Given the description of an element on the screen output the (x, y) to click on. 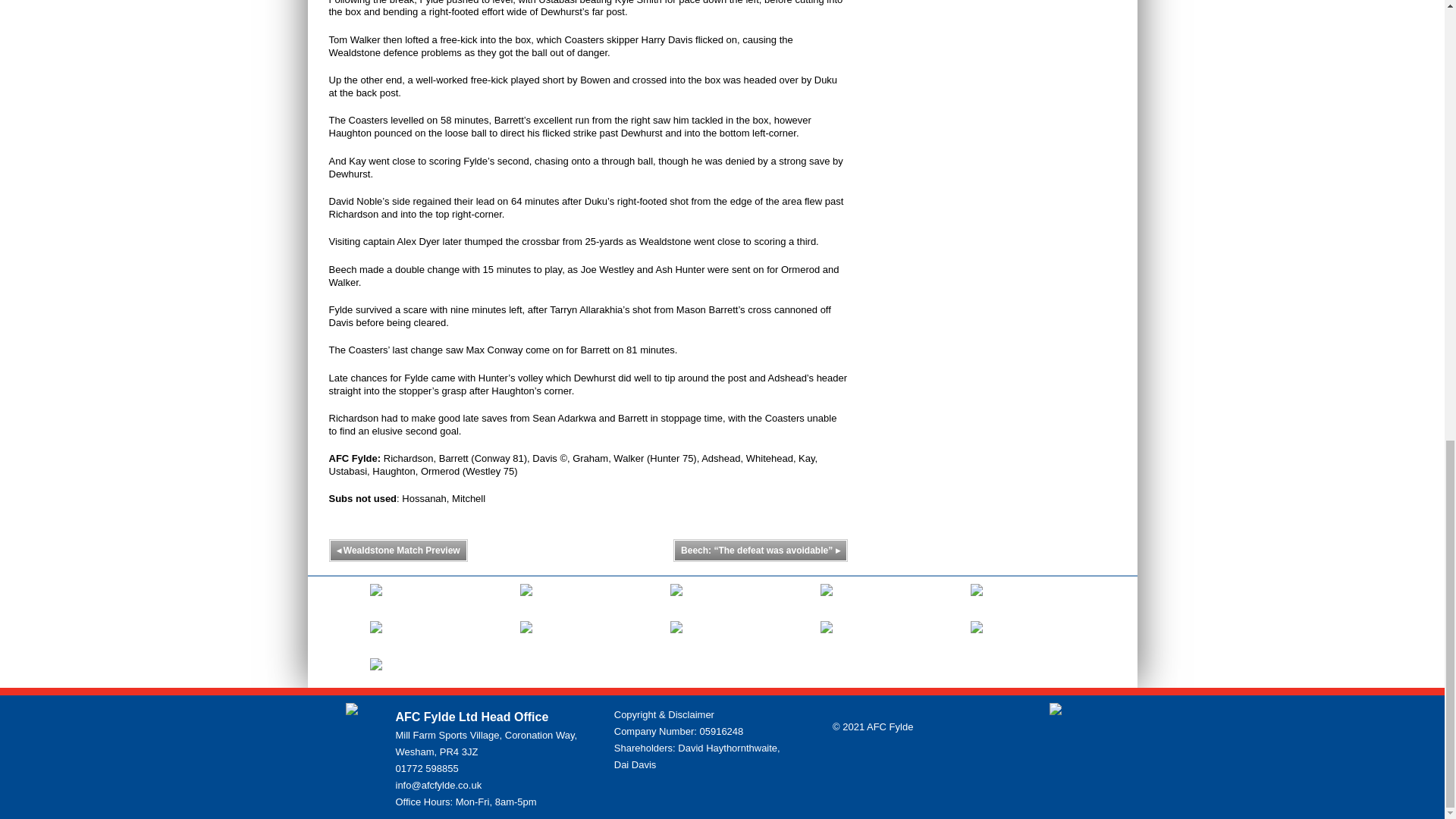
The National League (826, 636)
Breck (525, 636)
VetPlus (375, 600)
Bowker Motor Group (675, 600)
The National Lottery (976, 636)
Switch 365 (375, 636)
New Balance (826, 600)
Rustlers (375, 674)
The Baxter Group (525, 600)
UCBF (976, 600)
